Given the description of an element on the screen output the (x, y) to click on. 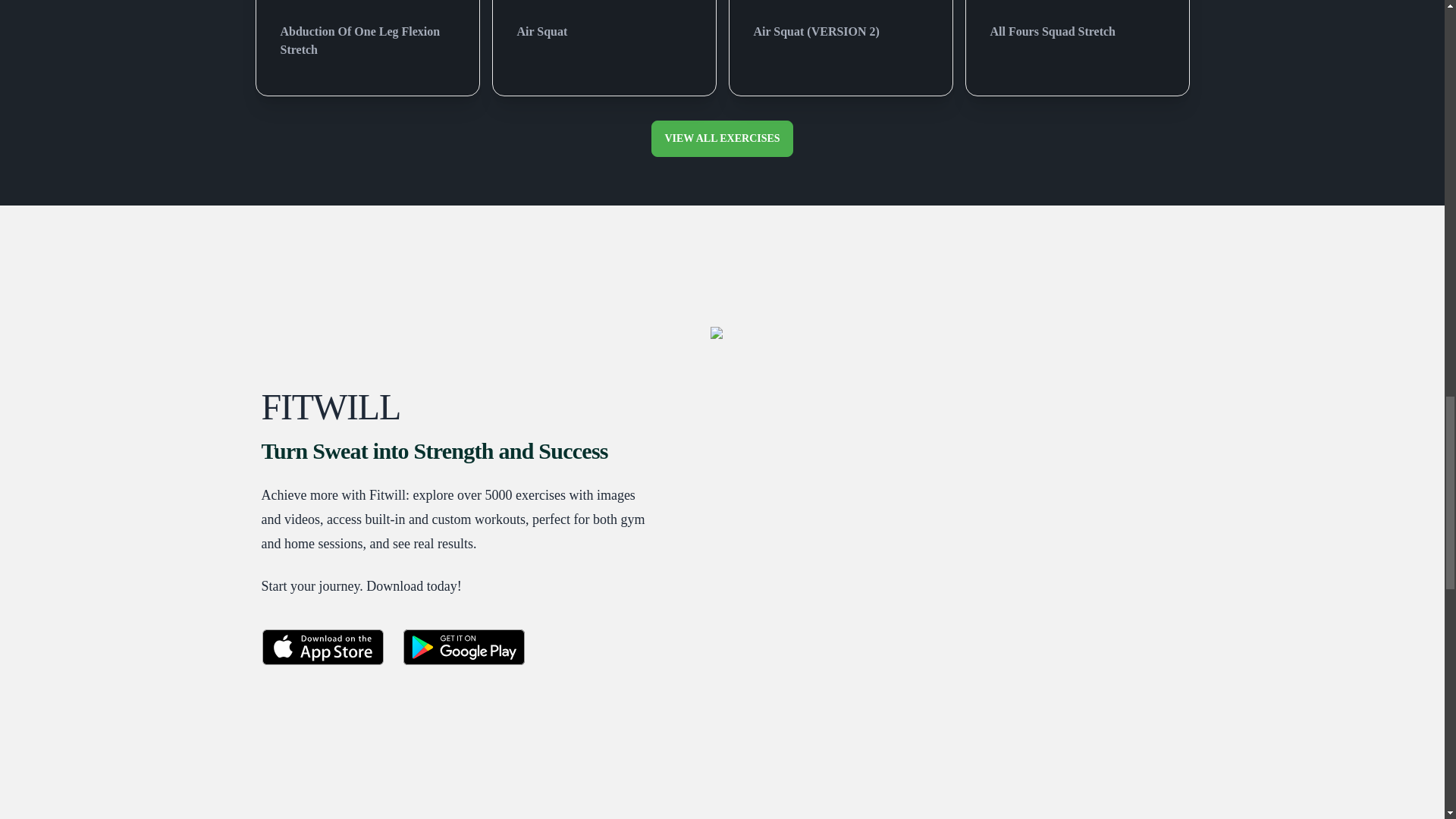
VIEW ALL EXERCISES (721, 138)
All Fours Squad Stretch (1077, 26)
Air Squat (603, 26)
Abduction Of One Leg Flexion Stretch (367, 35)
Download Fitwill on the App Store (322, 646)
Get Fitwill on Google Play (462, 646)
